Given the description of an element on the screen output the (x, y) to click on. 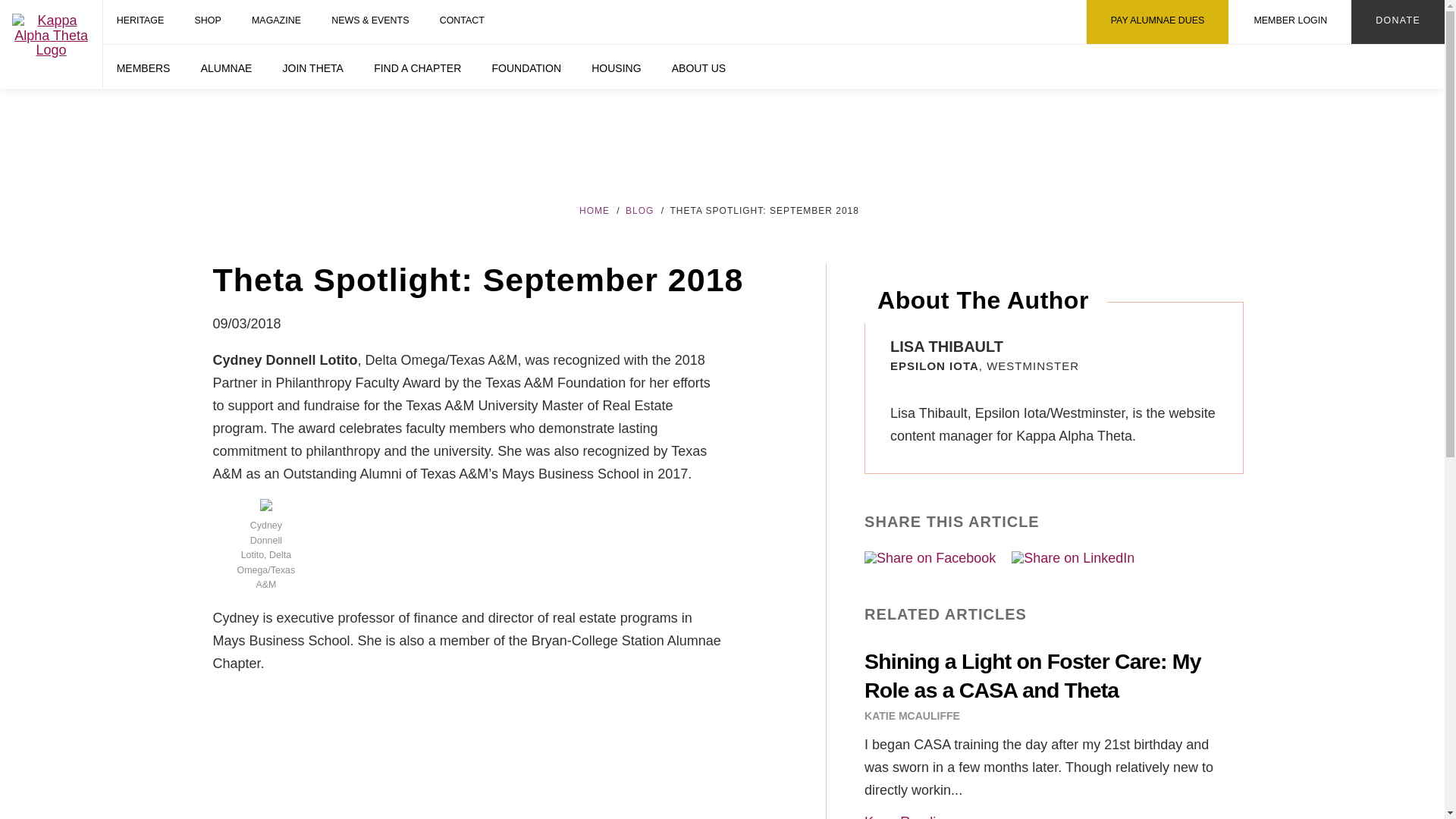
HERITAGE (140, 22)
SHOP (207, 22)
MEMBER LOGIN (1289, 22)
HOUSING (617, 67)
Member Login (1289, 22)
FIND A CHAPTER (417, 67)
Shop (207, 22)
MEMBERS (143, 67)
Alumnae (226, 67)
Members (143, 67)
Magazine (275, 22)
FOUNDATION (526, 67)
Heritage (140, 22)
Pay Alumnae Dues (1157, 22)
CONTACT (462, 22)
